Given the description of an element on the screen output the (x, y) to click on. 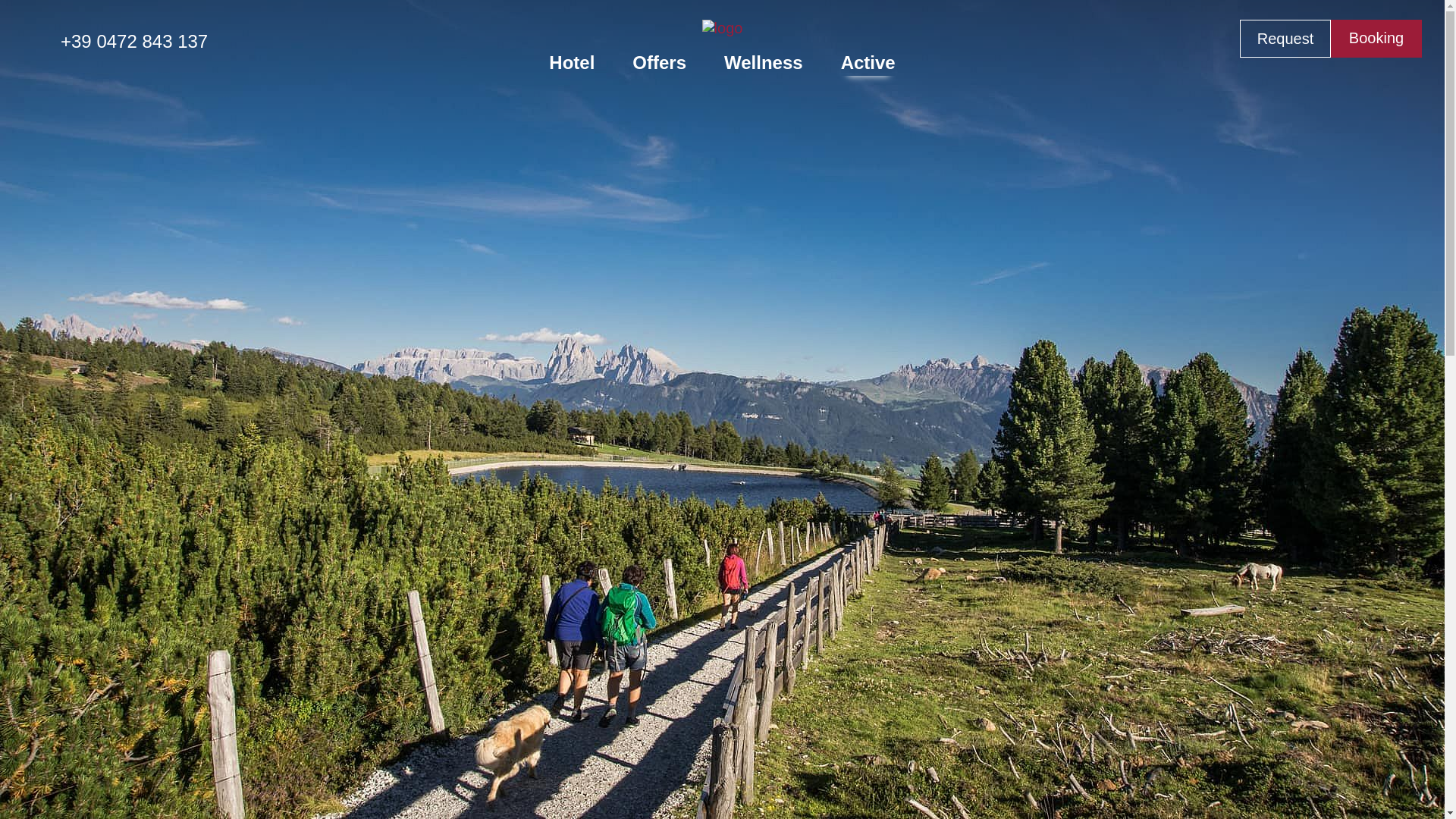
Telefone (115, 36)
Request (1285, 38)
Booking (1376, 38)
